Given the description of an element on the screen output the (x, y) to click on. 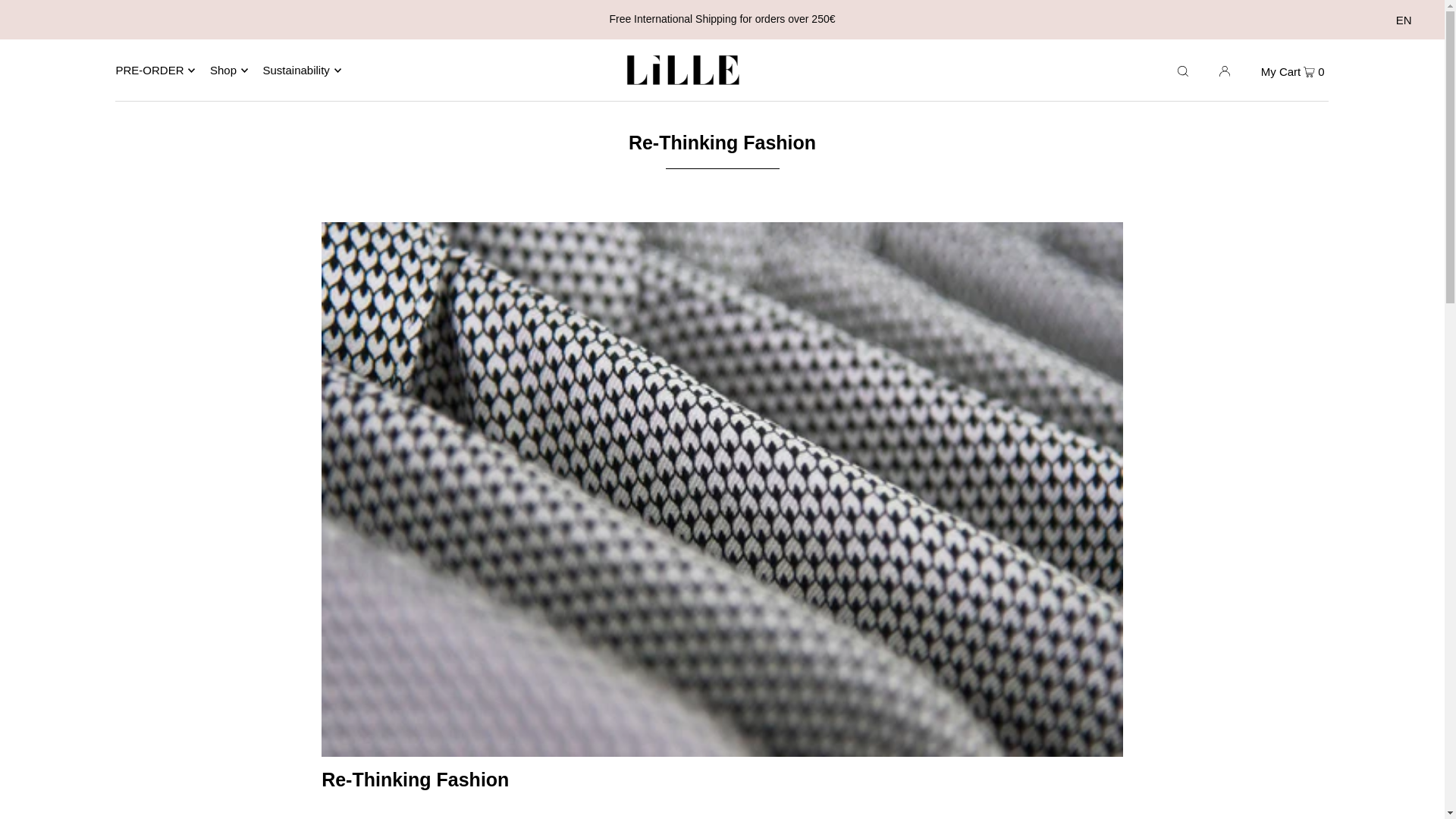
PRE-ORDER (155, 70)
Sustainability (301, 70)
Shop (228, 70)
